Given the description of an element on the screen output the (x, y) to click on. 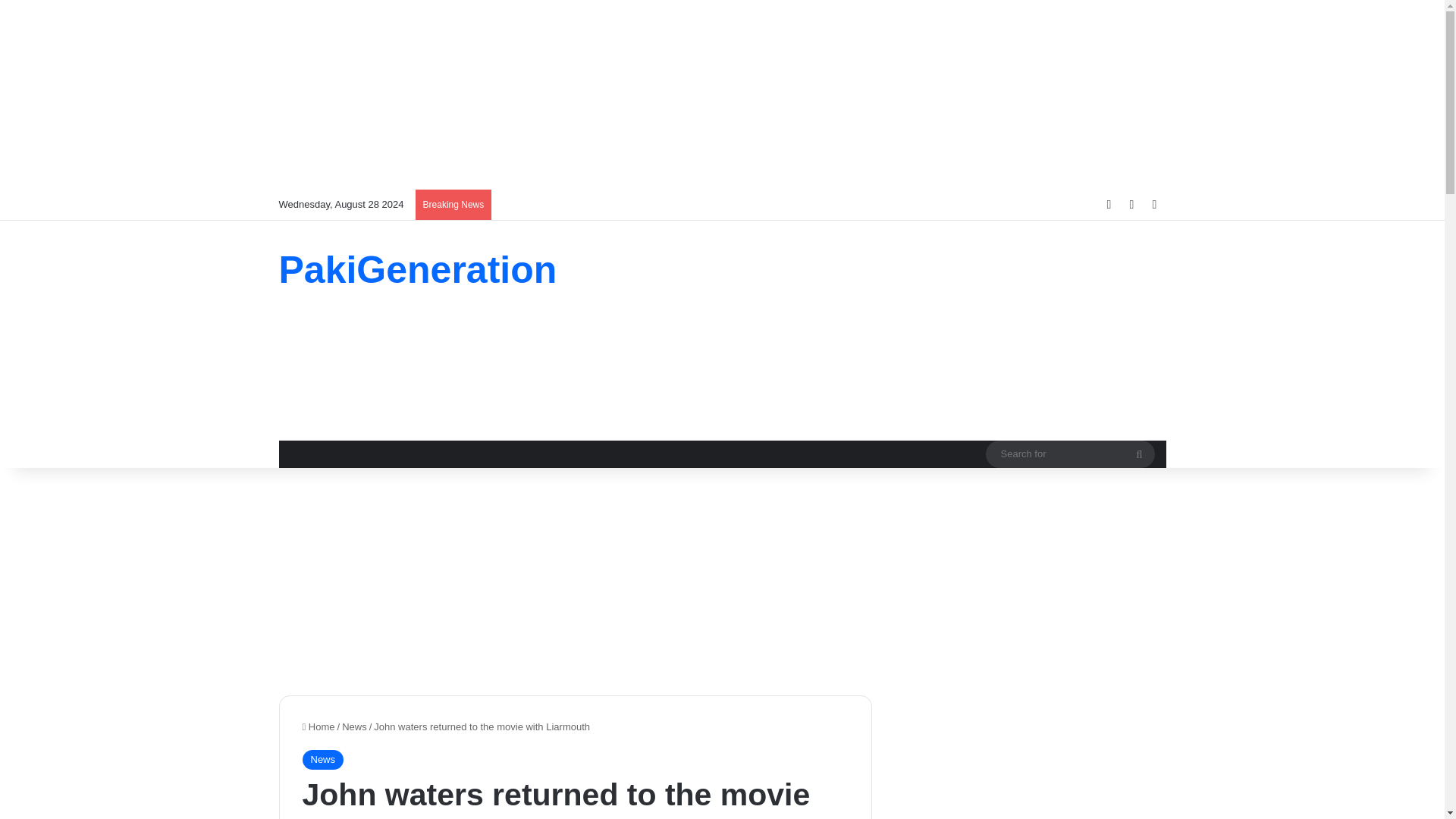
Search for (1139, 453)
News (354, 726)
Home (317, 726)
PakiGeneration (418, 269)
Search for (1069, 453)
News (322, 759)
PakiGeneration (418, 269)
